Given the description of an element on the screen output the (x, y) to click on. 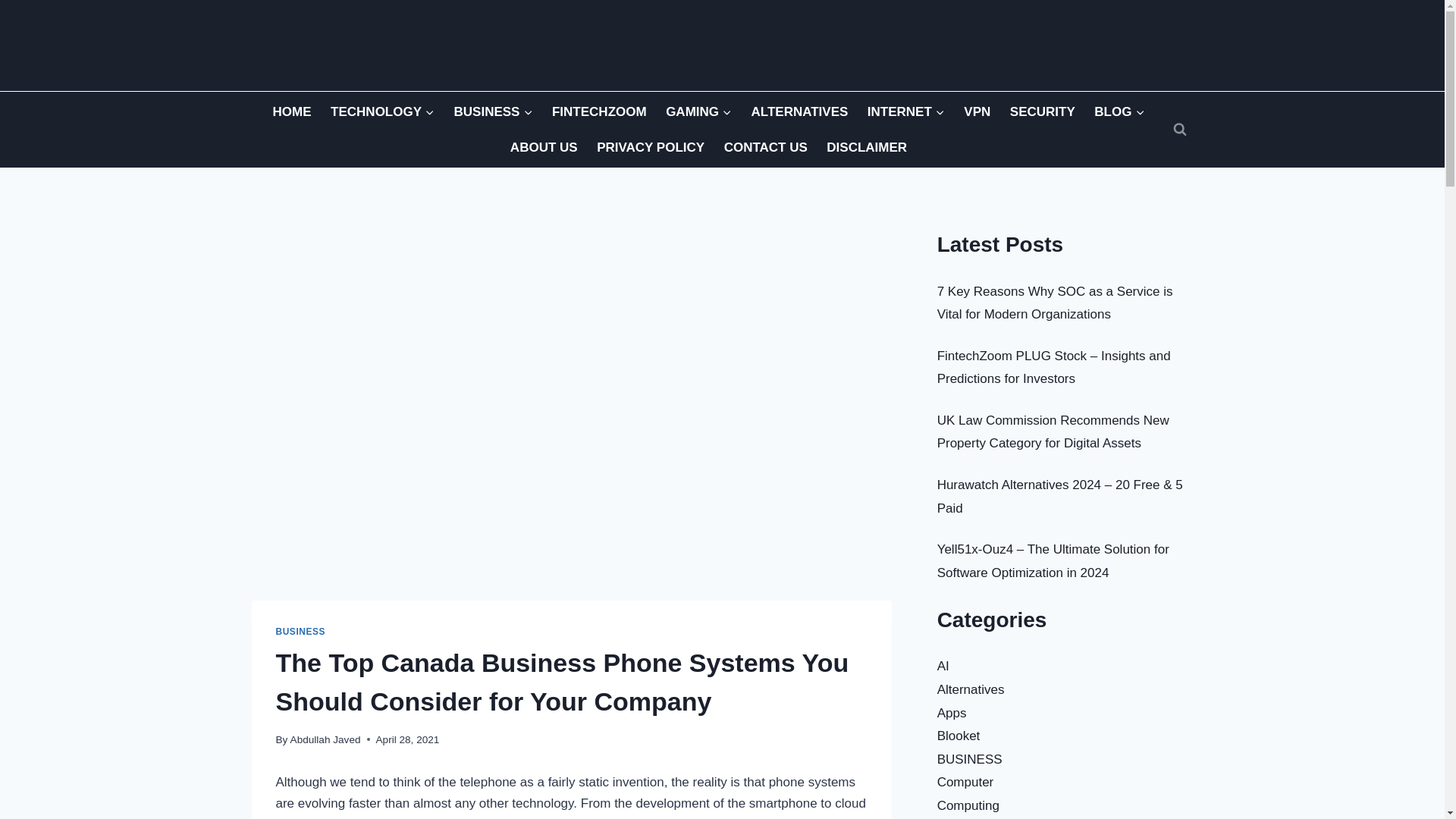
VPN (977, 111)
TECHNOLOGY (382, 111)
CONTACT US (765, 147)
SECURITY (1042, 111)
BLOG (1119, 111)
ALTERNATIVES (799, 111)
ABOUT US (543, 147)
DISCLAIMER (866, 147)
FINTECHZOOM (598, 111)
